Given the description of an element on the screen output the (x, y) to click on. 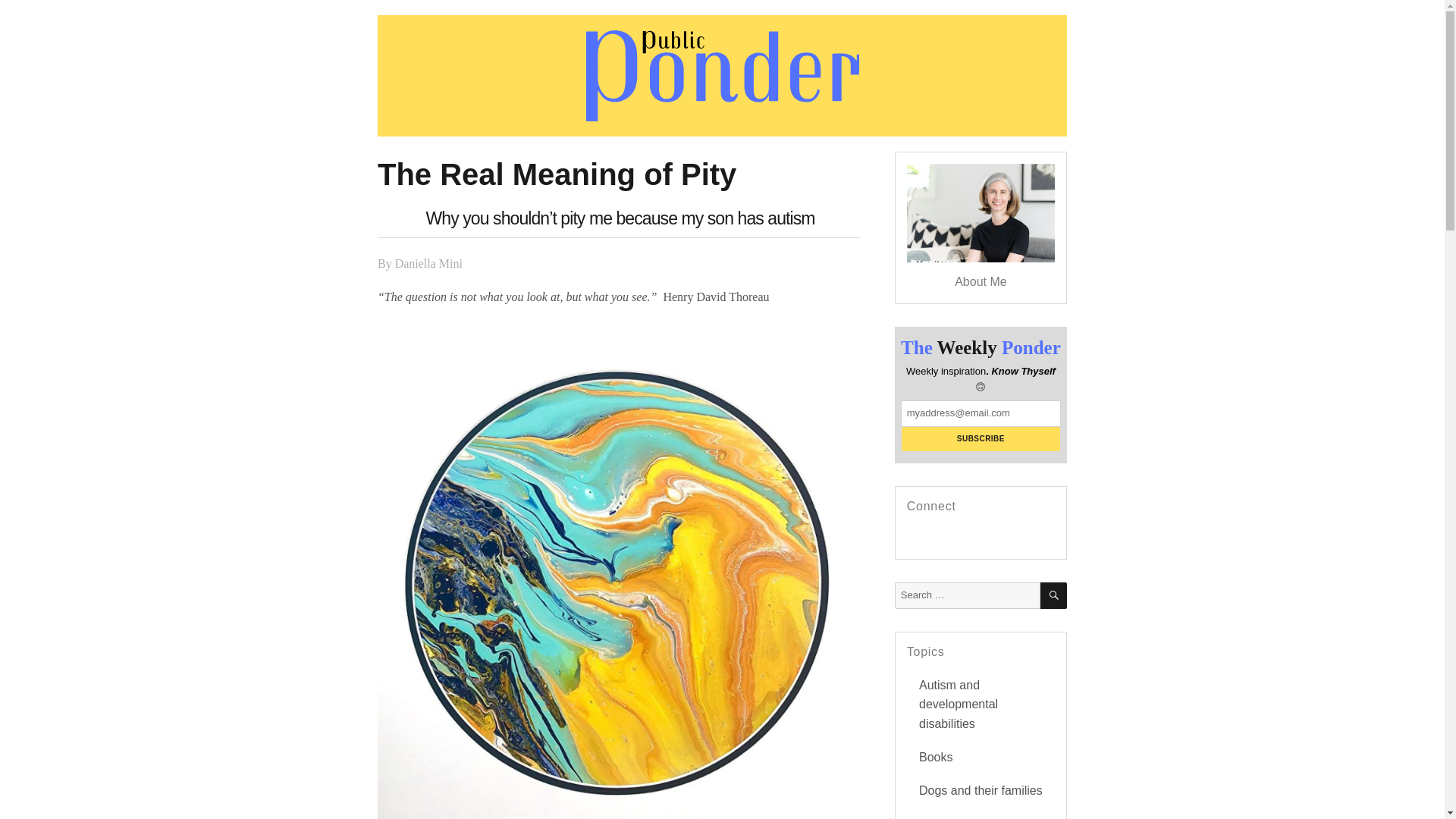
SEARCH (1054, 595)
Books (935, 757)
Health: depression, COVID, Scoliosis, etc. (978, 818)
Subscribe (980, 438)
Dogs and their families (980, 789)
Subscribe (980, 438)
About Me (980, 281)
Autism and developmental disabilities (957, 704)
The Weekly Ponder (981, 348)
